Given the description of an element on the screen output the (x, y) to click on. 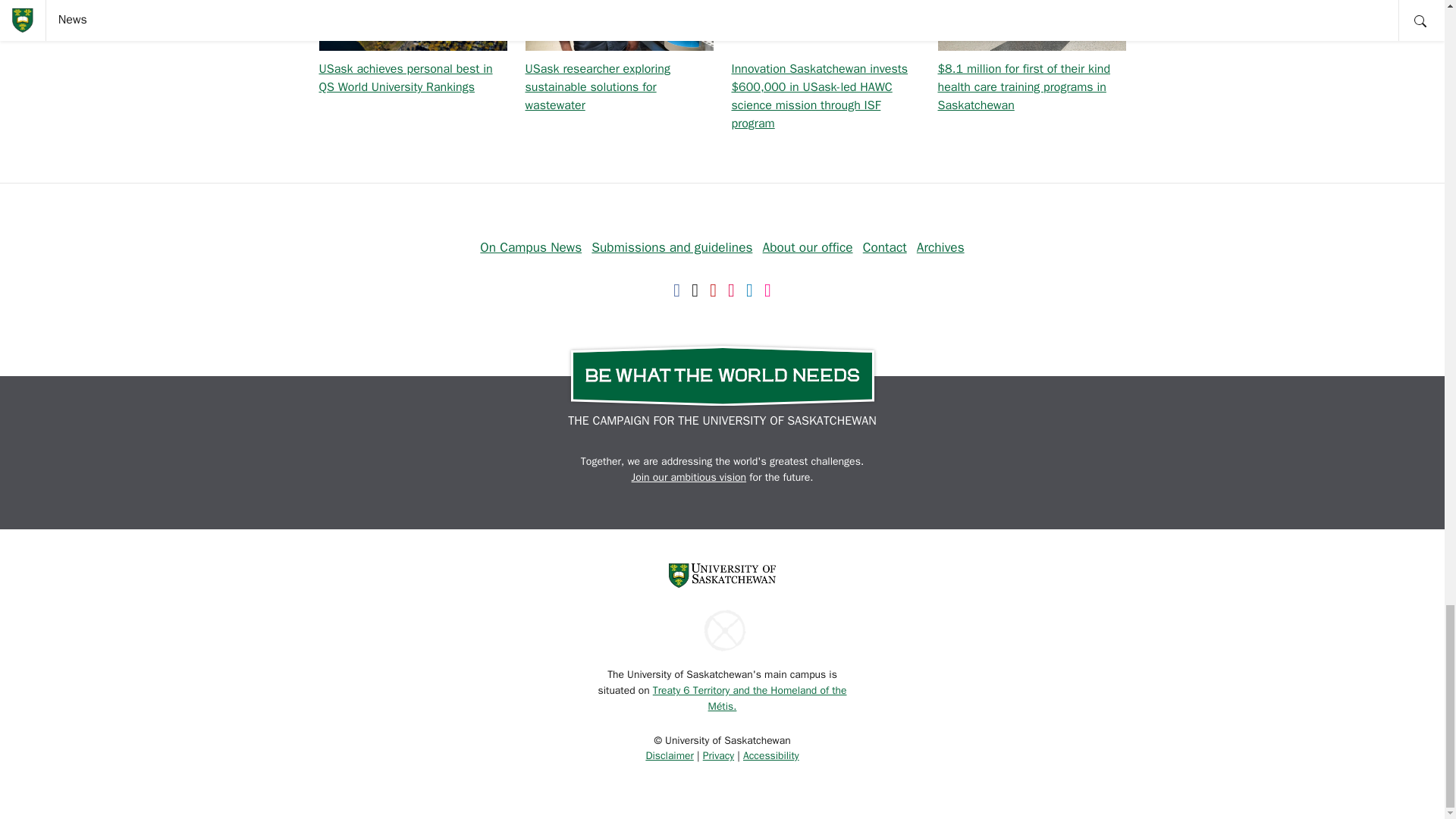
Join our ambitious vision (688, 477)
Accessibility (770, 755)
Privacy (718, 755)
Disclaimer (669, 755)
Contact (885, 247)
Submissions and guidelines (671, 247)
About our office (807, 247)
USask achieves personal best in QS World University Rankings (405, 78)
On Campus News (530, 247)
